Given the description of an element on the screen output the (x, y) to click on. 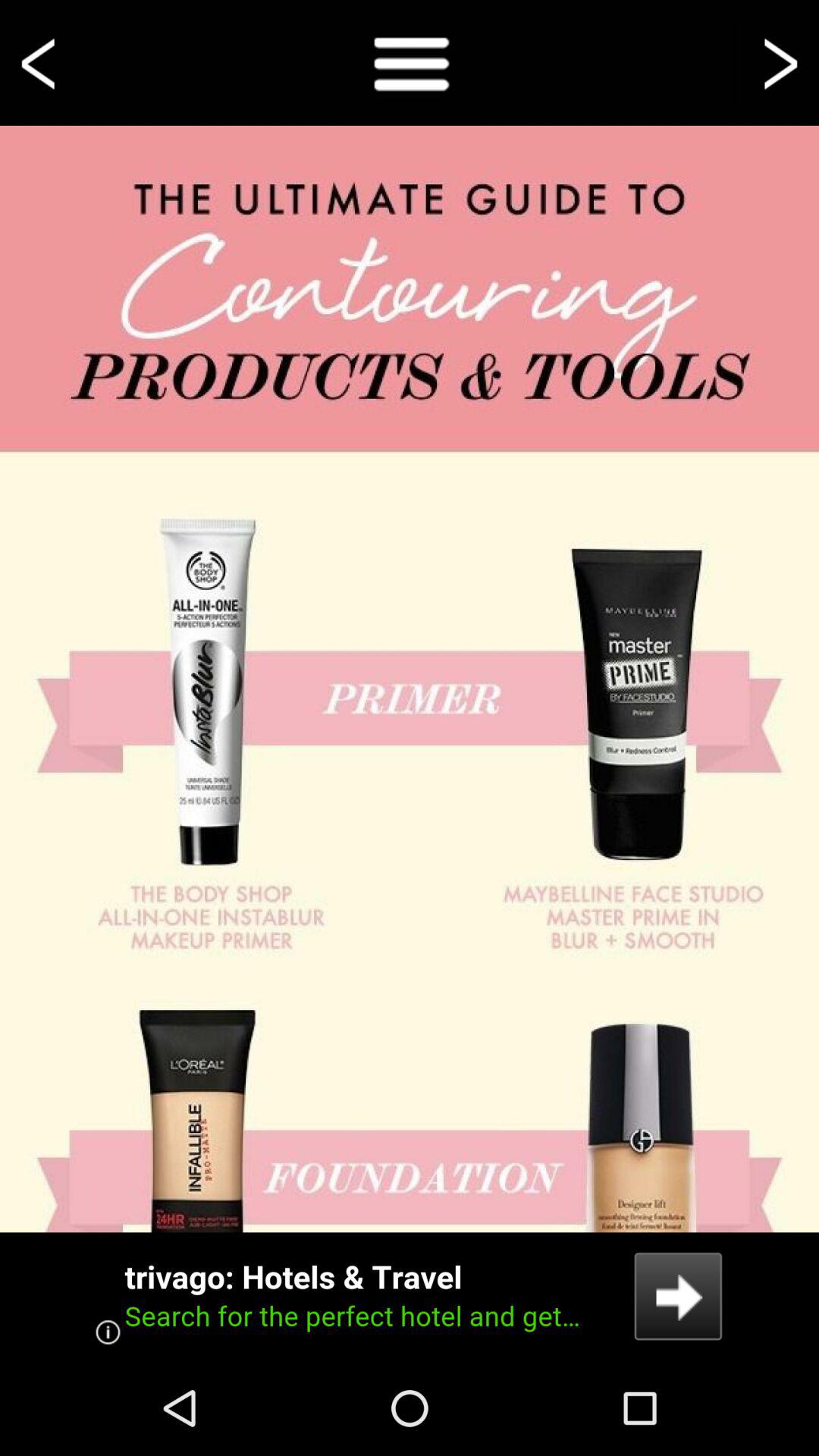
link to advertisement website (409, 1296)
